Given the description of an element on the screen output the (x, y) to click on. 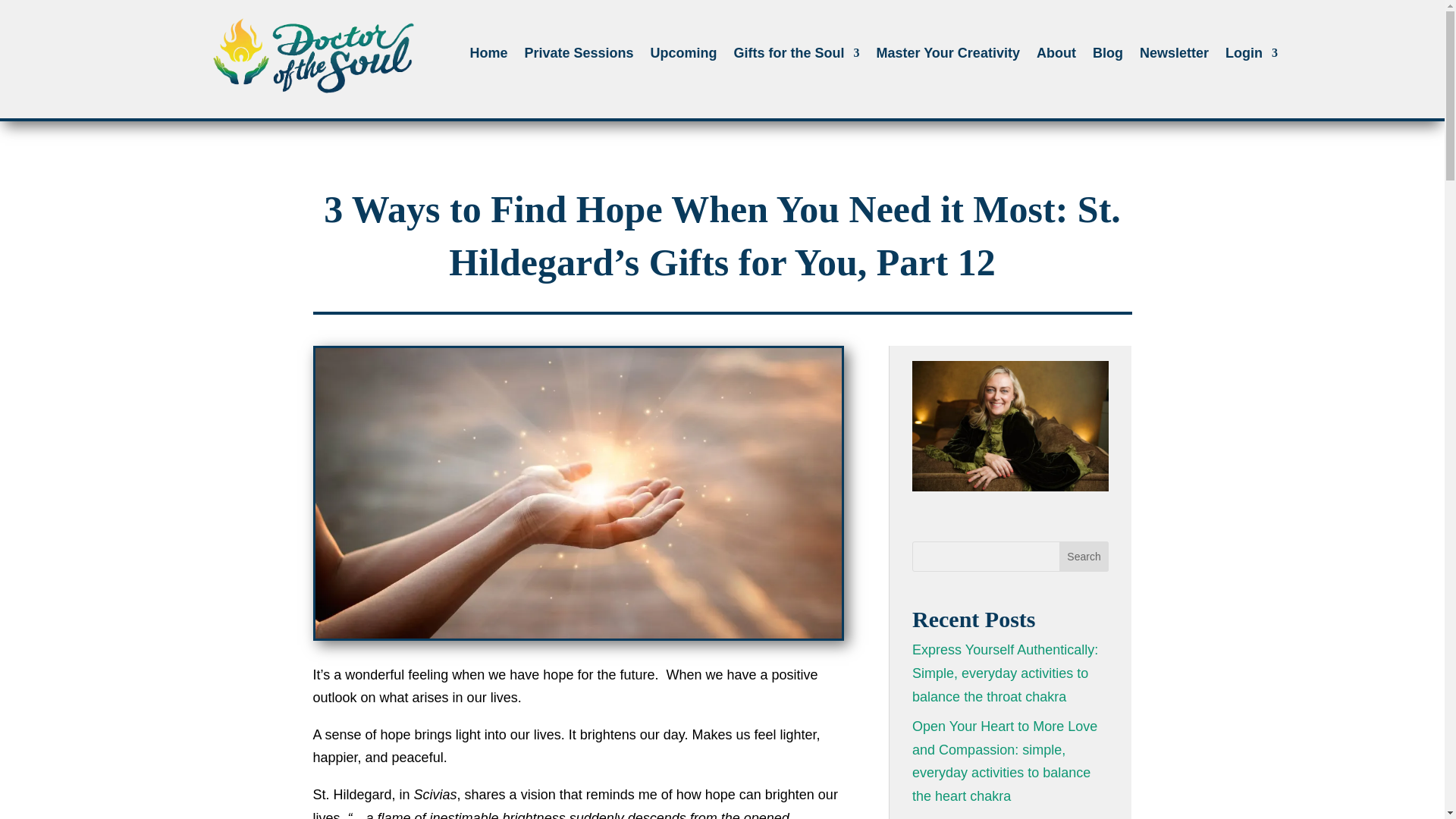
Private Sessions (578, 55)
About (1055, 55)
Newsletter (1174, 55)
Home (487, 55)
Blog (1107, 55)
docsoul screengrab logo (314, 52)
Master Your Creativity (948, 55)
Search (1084, 556)
Login (1251, 55)
Upcoming (683, 55)
Gifts for the Soul (796, 55)
